Given the description of an element on the screen output the (x, y) to click on. 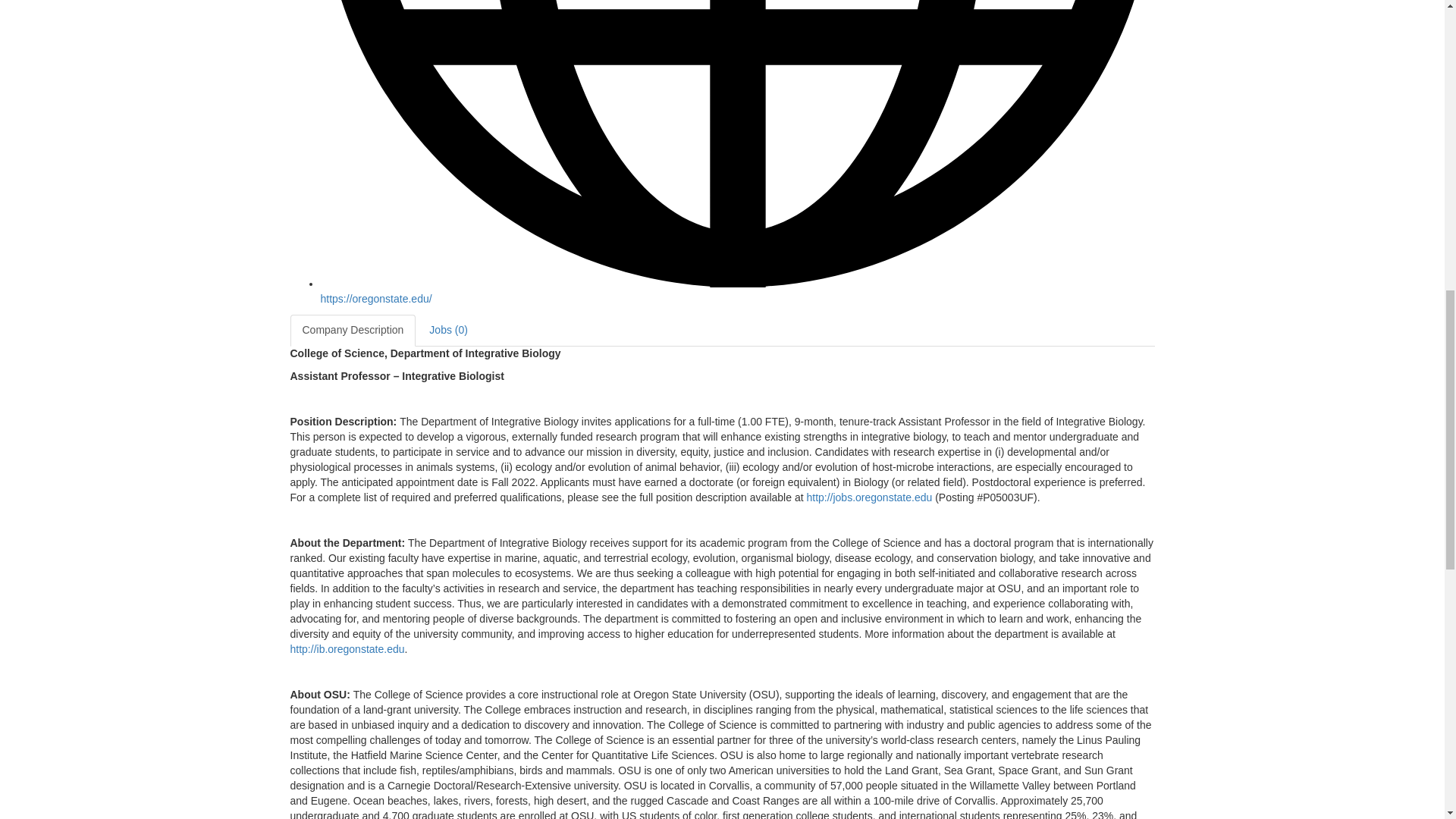
Company Description (351, 330)
